Given the description of an element on the screen output the (x, y) to click on. 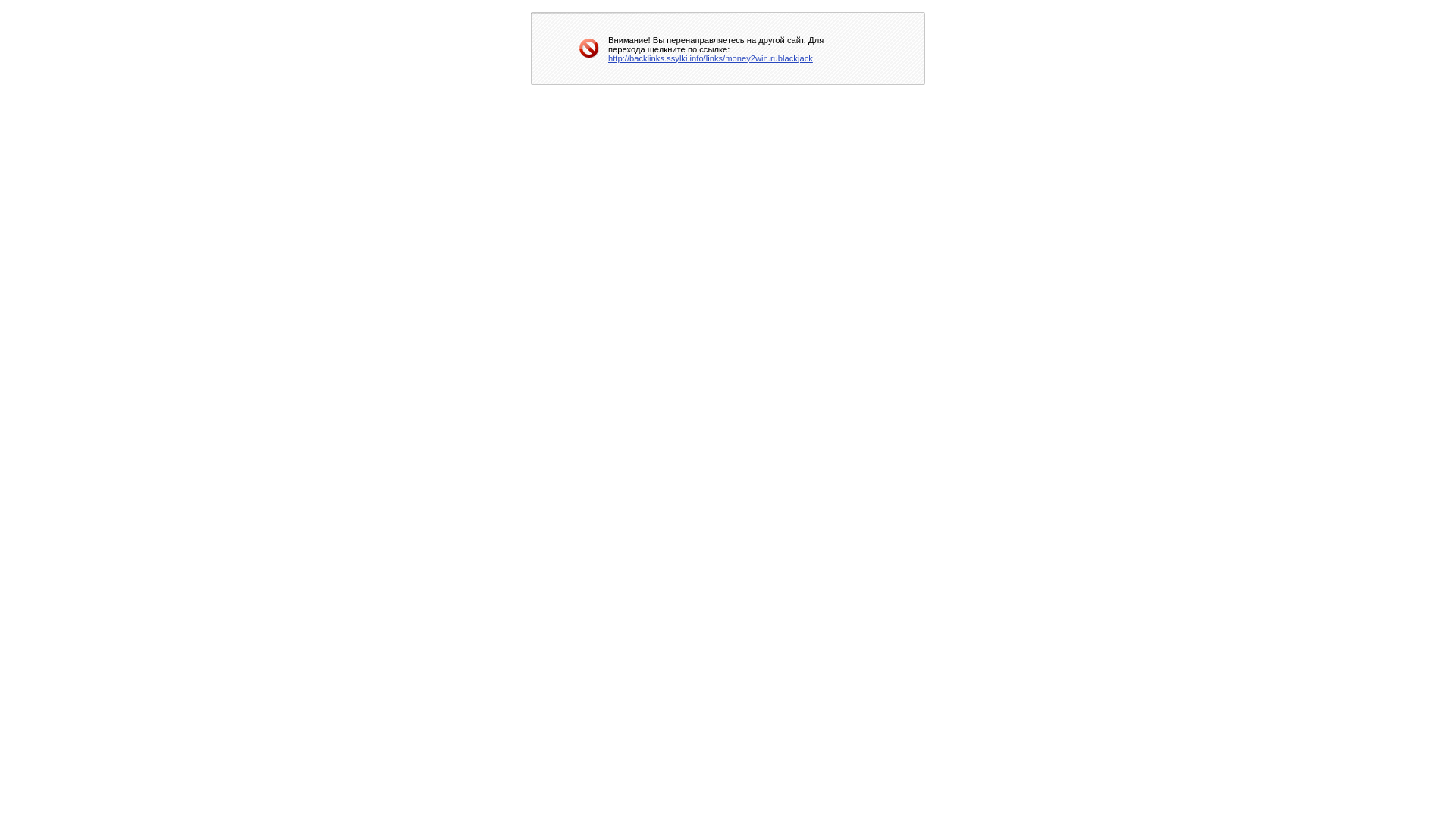
http://backlinks.ssylki.info/links/money2win.rublackjack Element type: text (710, 57)
